Given the description of an element on the screen output the (x, y) to click on. 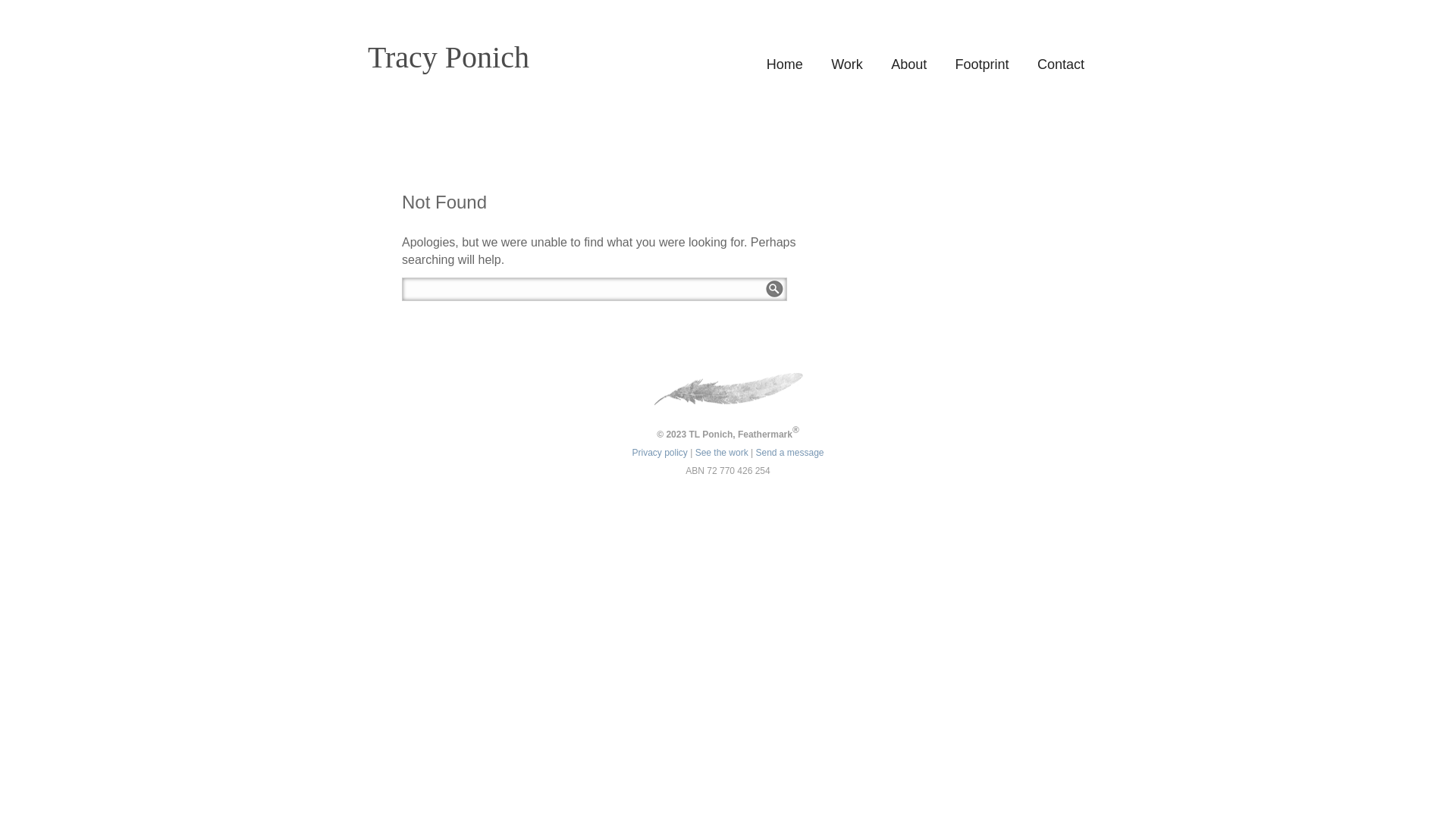
Home Element type: text (784, 64)
Search Element type: text (774, 289)
Send a message Element type: text (789, 452)
About Element type: text (908, 64)
See the work Element type: text (721, 452)
Contact Element type: text (1060, 64)
Tracy Ponich Element type: text (491, 57)
Privacy policy Element type: text (659, 452)
Work Element type: text (846, 64)
Footprint Element type: text (982, 64)
